Given the description of an element on the screen output the (x, y) to click on. 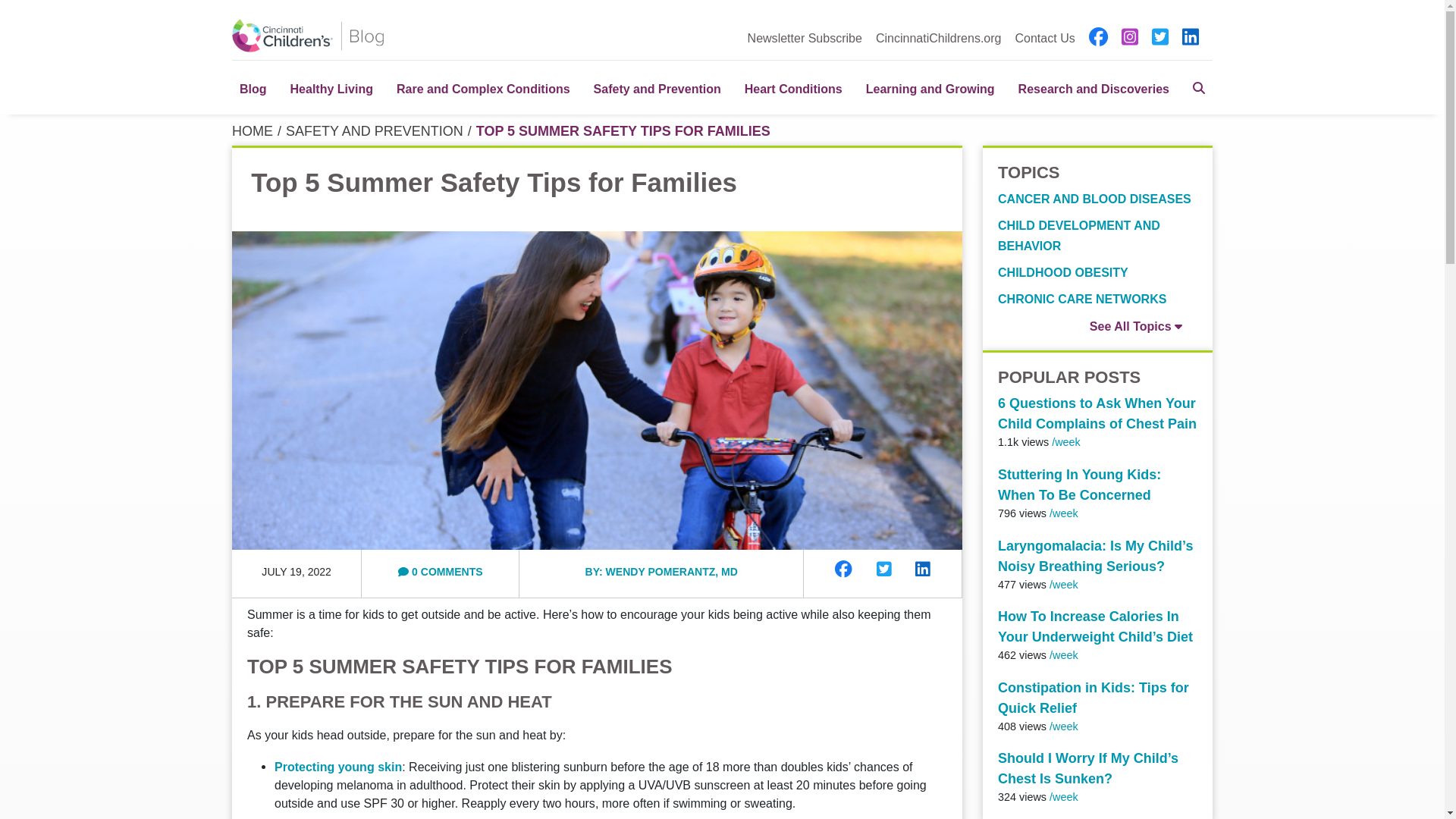
Protecting young skin (338, 766)
CincinnatiChildrens.org (938, 37)
Research and Discoveries (1093, 87)
Newsletter Subscribe (804, 37)
Healthy Living (331, 87)
SAFETY AND PREVENTION (374, 130)
Learning and Growing (931, 87)
Heart Conditions (793, 87)
HOME (252, 130)
Safety and Prevention (657, 87)
Rare and Complex Conditions (483, 87)
Contact Us (1044, 37)
